Given the description of an element on the screen output the (x, y) to click on. 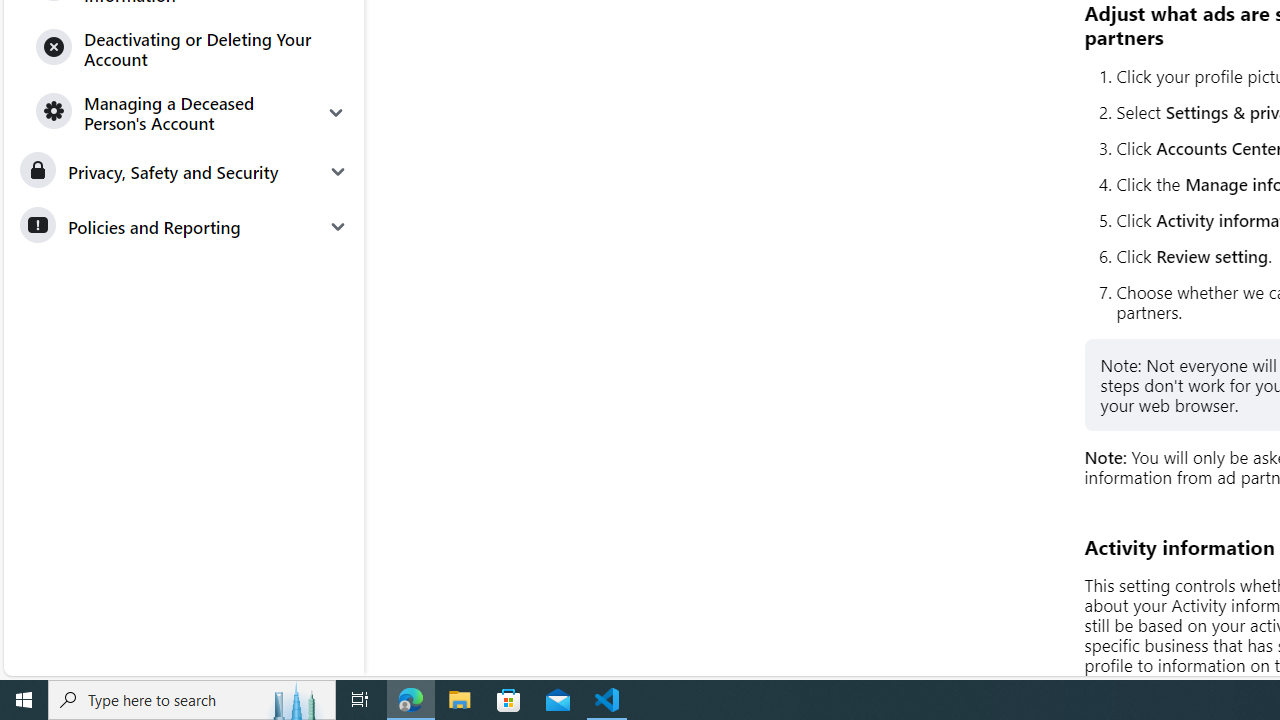
Policies and Reporting (183, 226)
Expand (335, 112)
Privacy, Safety and Security (183, 171)
Deactivating or Deleting Your Account (191, 47)
Managing a Deceased Person's Account (191, 111)
Deactivating or Deleting Your Account (191, 47)
Managing a Deceased Person's Account Expand (191, 111)
